Given the description of an element on the screen output the (x, y) to click on. 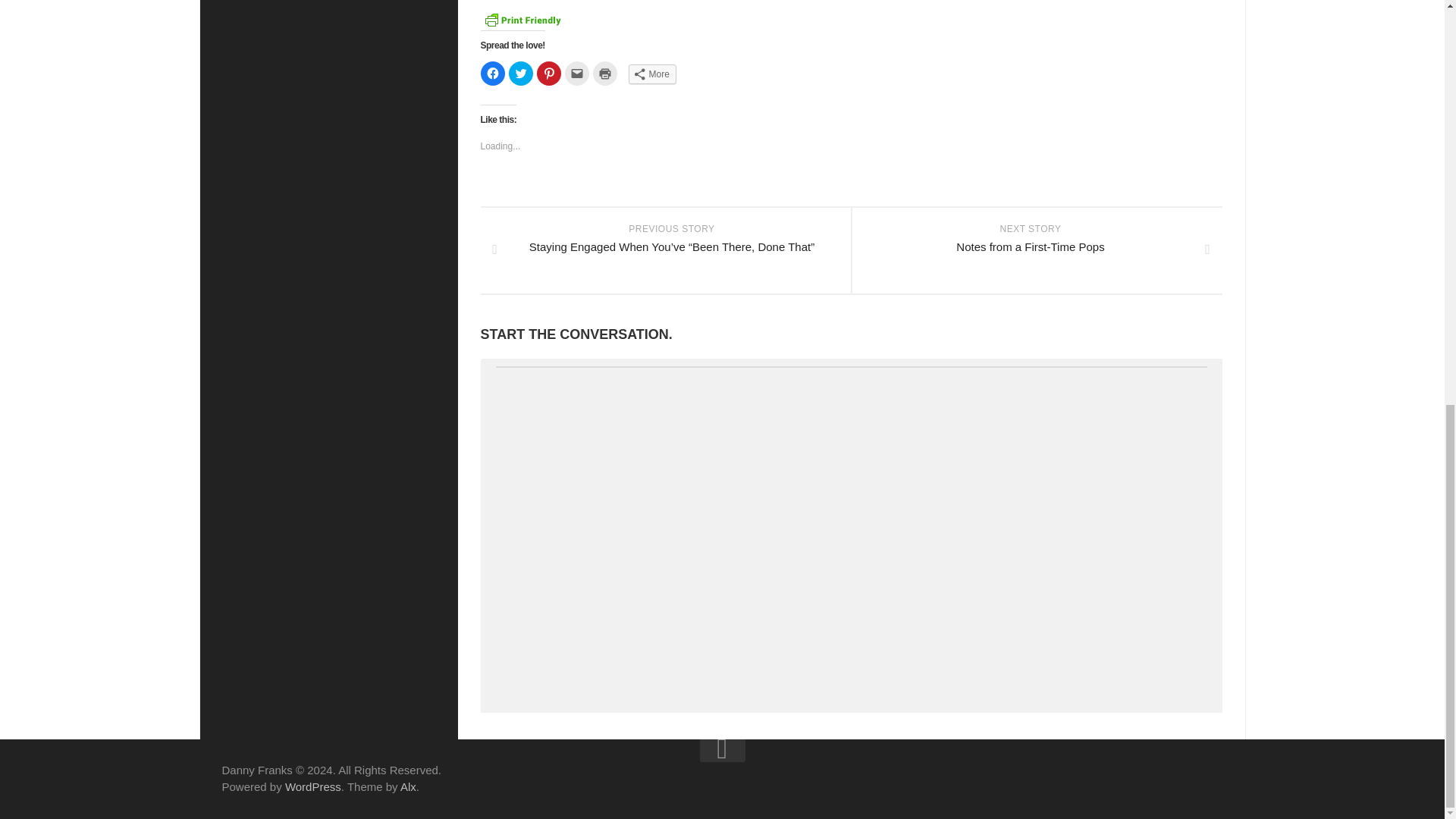
WordPress (312, 786)
More (651, 74)
Click to share on Facebook (1035, 250)
Click to print (492, 73)
Click to email a link to a friend (604, 73)
Click to share on Twitter (576, 73)
Click to share on Pinterest (520, 73)
Alx (548, 73)
